Given the description of an element on the screen output the (x, y) to click on. 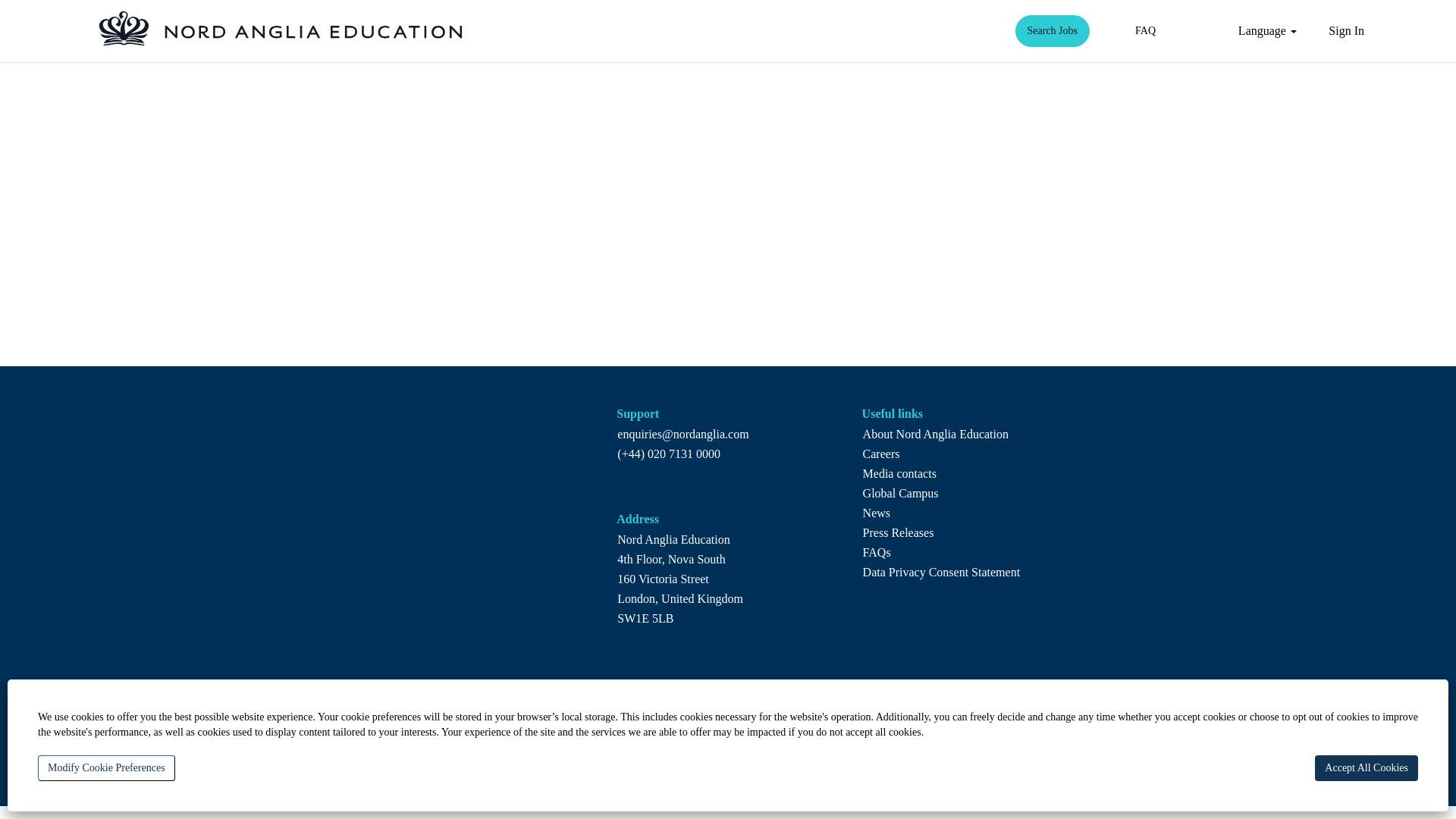
Cookie policy (658, 758)
youtube (1067, 772)
Search Jobs (1052, 30)
Modern slavery statement (451, 758)
UK tax strategy (568, 758)
Legal notice (825, 758)
Equality, diversity and inclusion (386, 775)
FAQ (1144, 30)
instagram (1014, 772)
Equality, diversity and inclusion (386, 775)
Modern slavery statement (451, 758)
facebook (920, 772)
Accessibility (339, 758)
Legal notice (825, 758)
Privacy policy (743, 758)
